Given the description of an element on the screen output the (x, y) to click on. 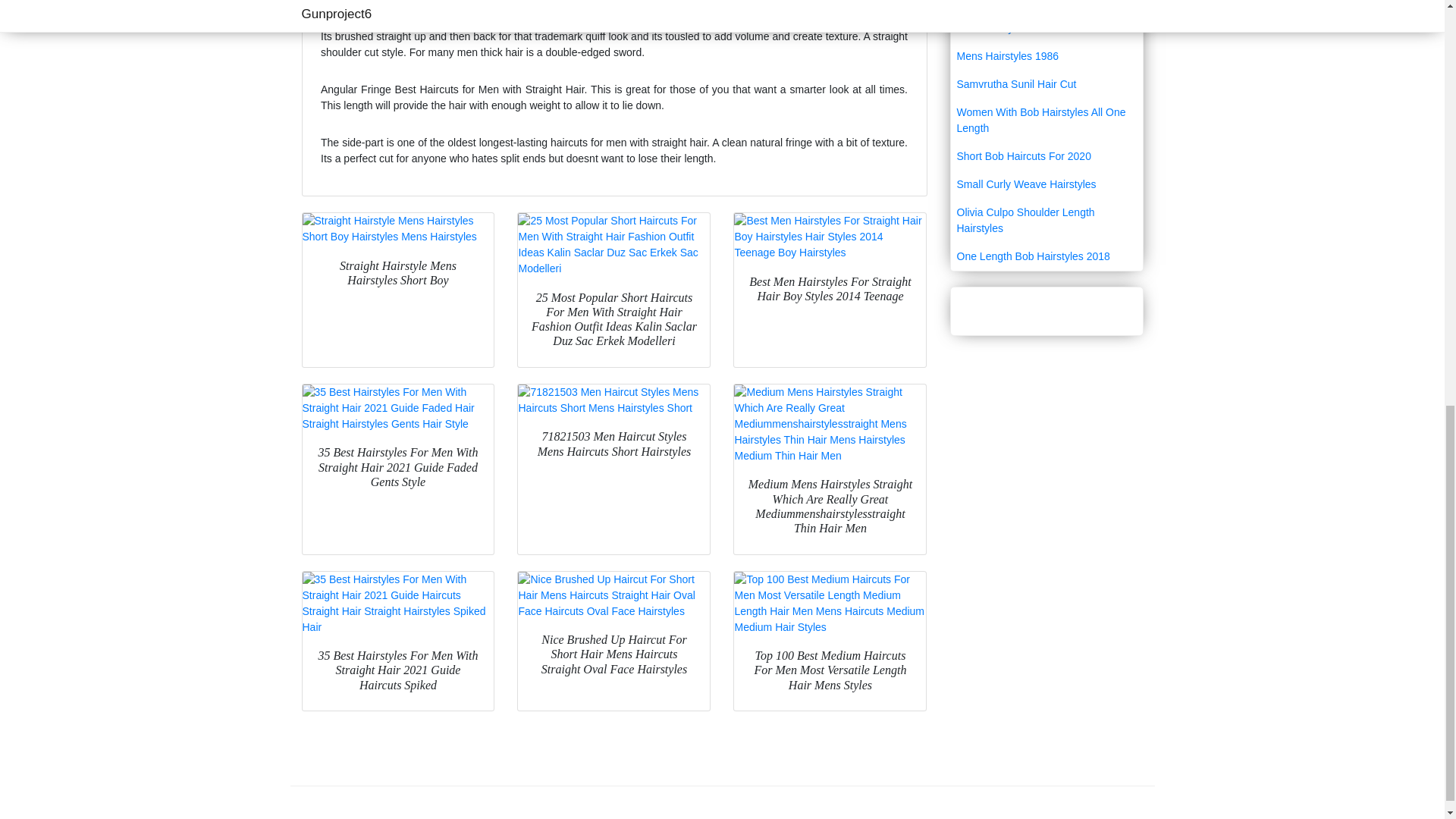
Men Hairstyle Online (1046, 28)
Mens Hairstyles 1986 (1046, 56)
Royalty Braid Hairstyle Men (1046, 7)
